Given the description of an element on the screen output the (x, y) to click on. 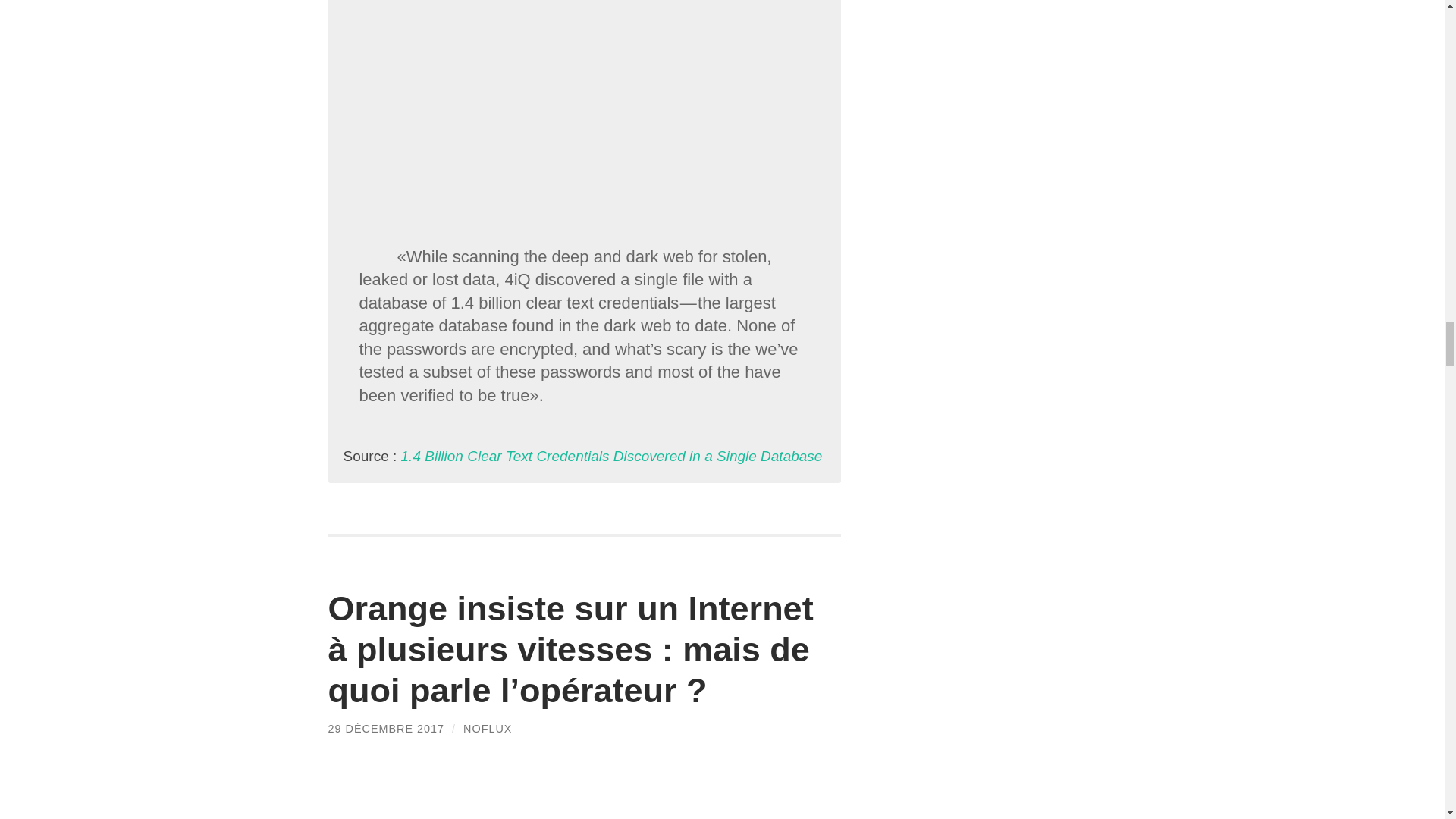
NOFLUX (487, 728)
Articles par noflux (487, 728)
